Given the description of an element on the screen output the (x, y) to click on. 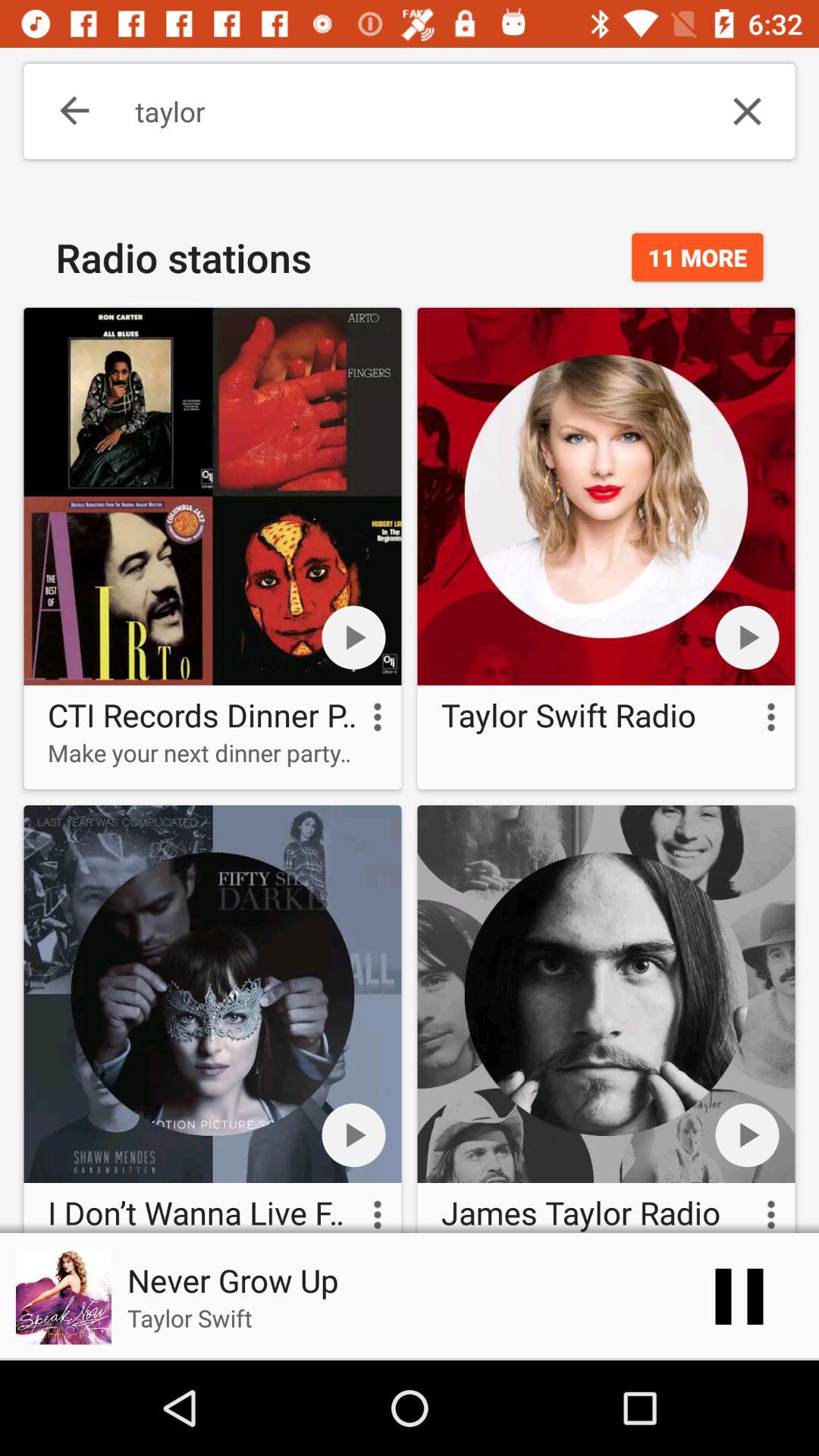
launch item below the james taylor radio (739, 1296)
